Given the description of an element on the screen output the (x, y) to click on. 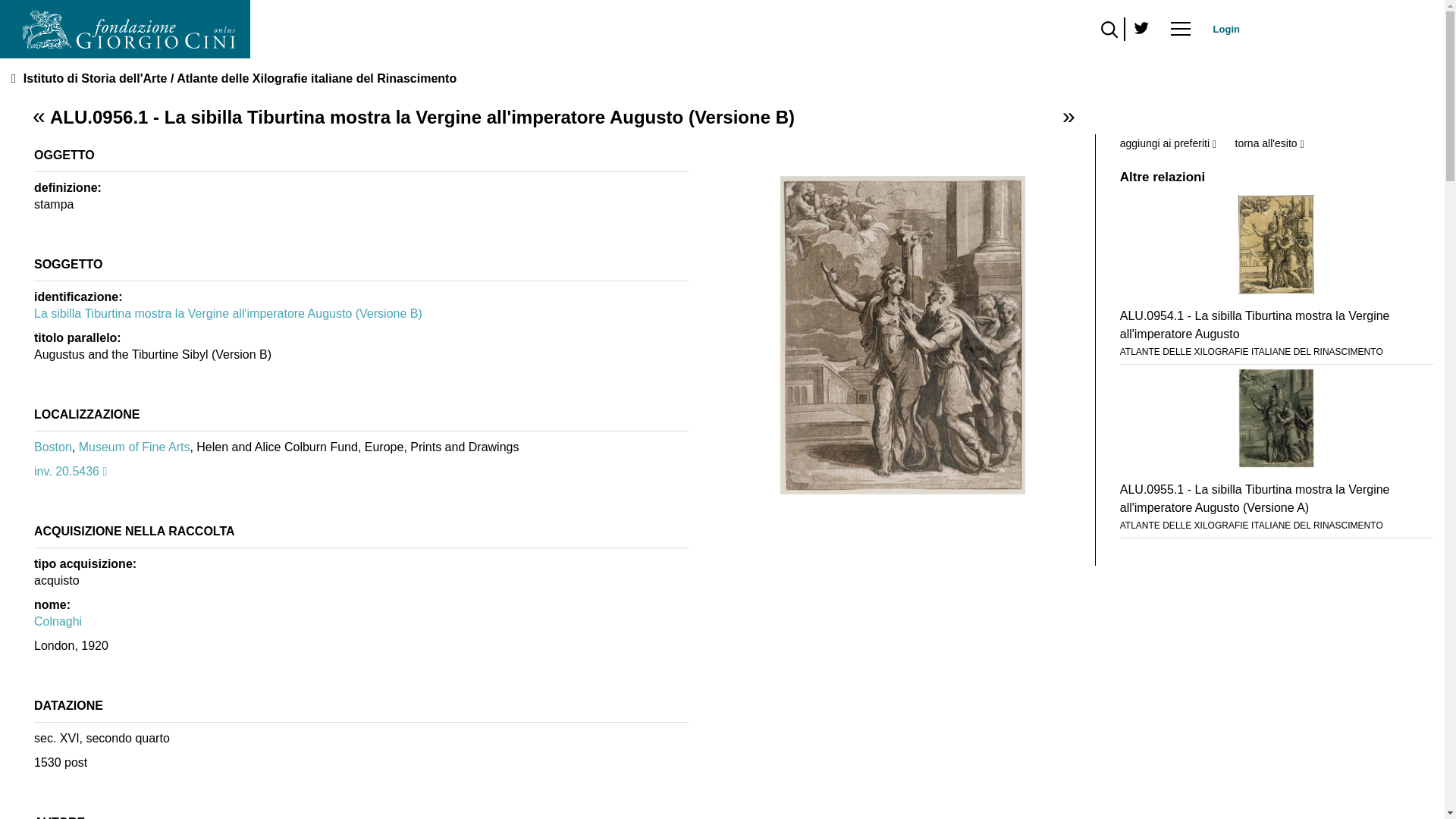
risultato precedente (39, 119)
risultato successivo (1068, 119)
Login (1226, 29)
